Given the description of an element on the screen output the (x, y) to click on. 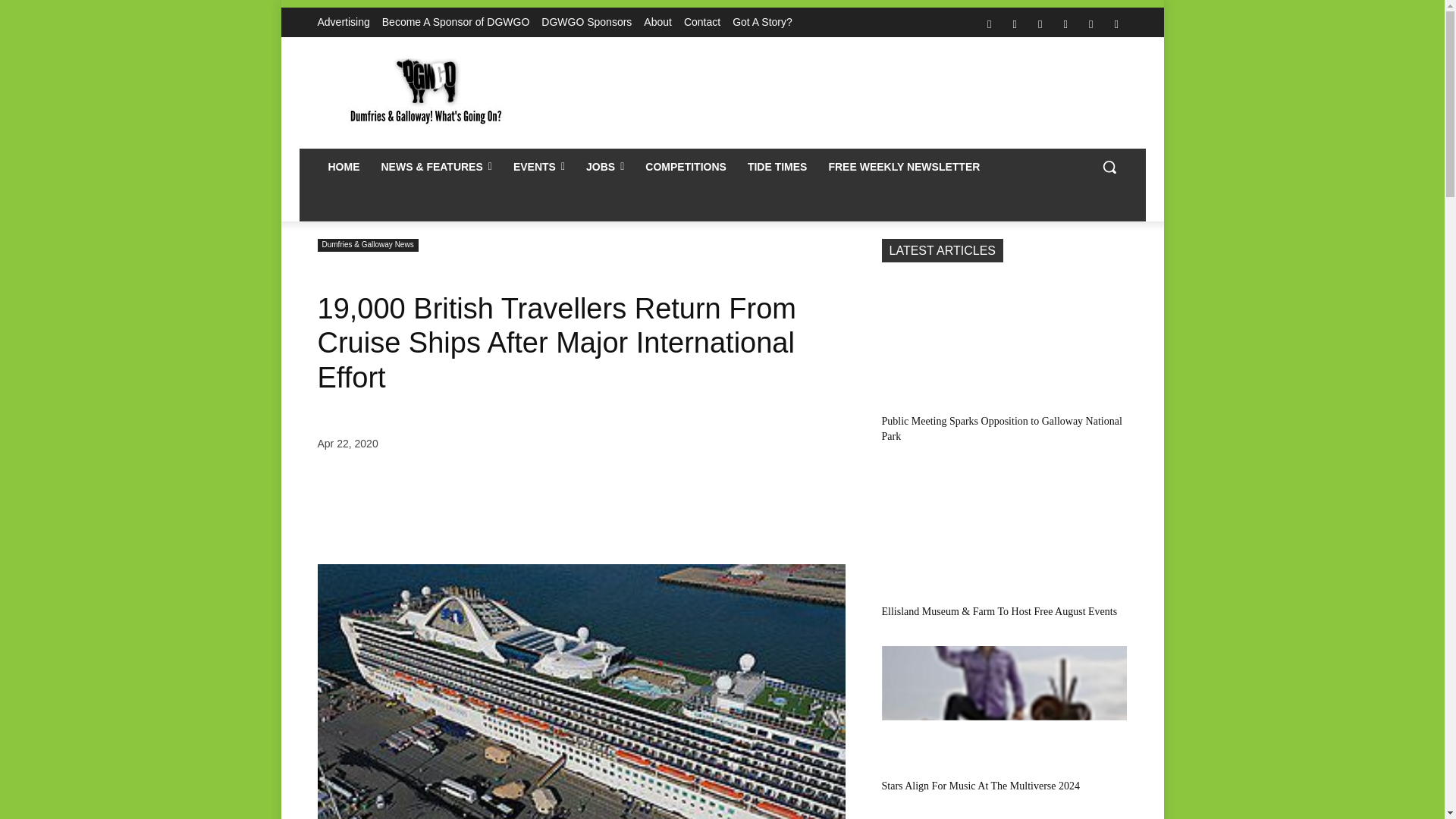
TikTok (1065, 24)
Twitter (1091, 24)
Become A Sponsor of DGWGO (455, 21)
Mail (1040, 24)
DGWGO Sponsors (586, 21)
Advertising (343, 21)
Instagram (1015, 24)
About (657, 21)
Contact (702, 21)
Facebook (989, 24)
